Given the description of an element on the screen output the (x, y) to click on. 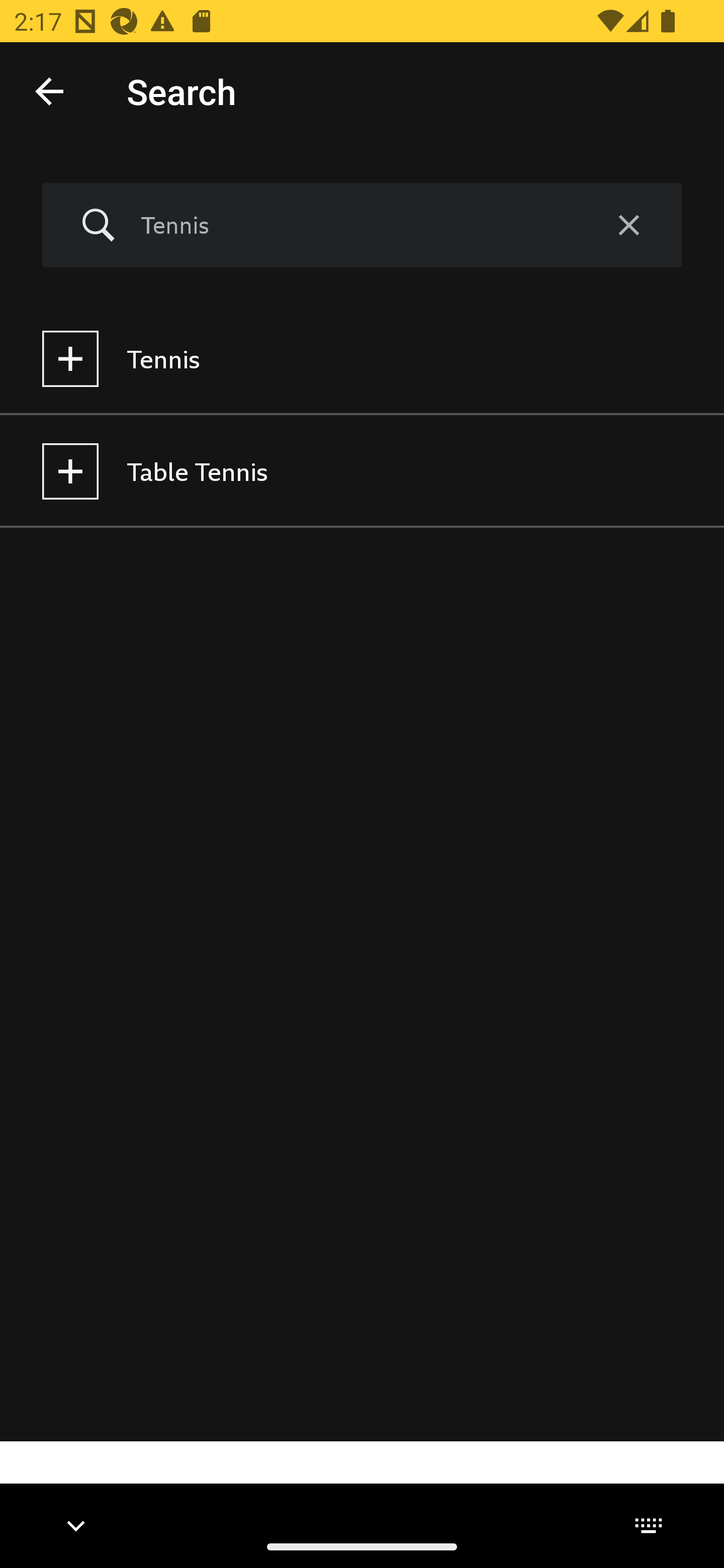
Done (49, 90)
Tennis Clear query (361, 225)
Clear query (628, 225)
Tennis (358, 224)
Tennis (362, 358)
Table Tennis (362, 471)
